Given the description of an element on the screen output the (x, y) to click on. 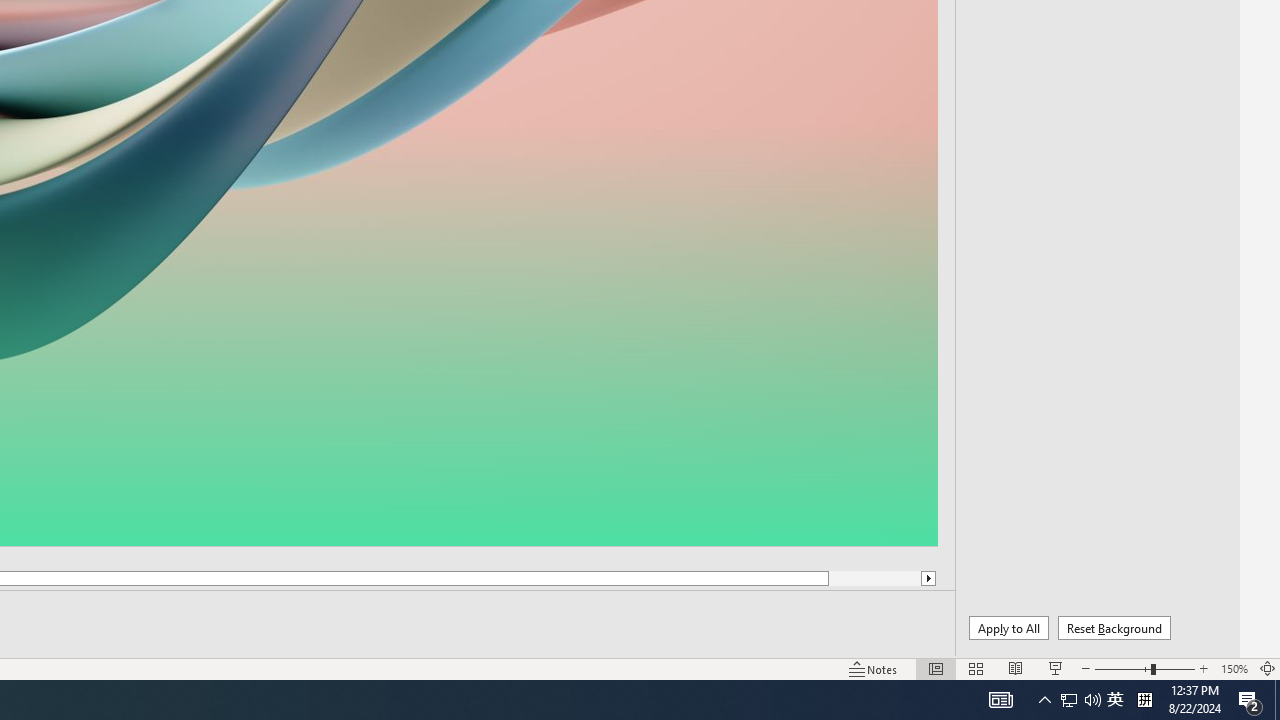
Apply to All (1008, 628)
Reset Background (1114, 628)
Zoom 150% (1234, 668)
